Given the description of an element on the screen output the (x, y) to click on. 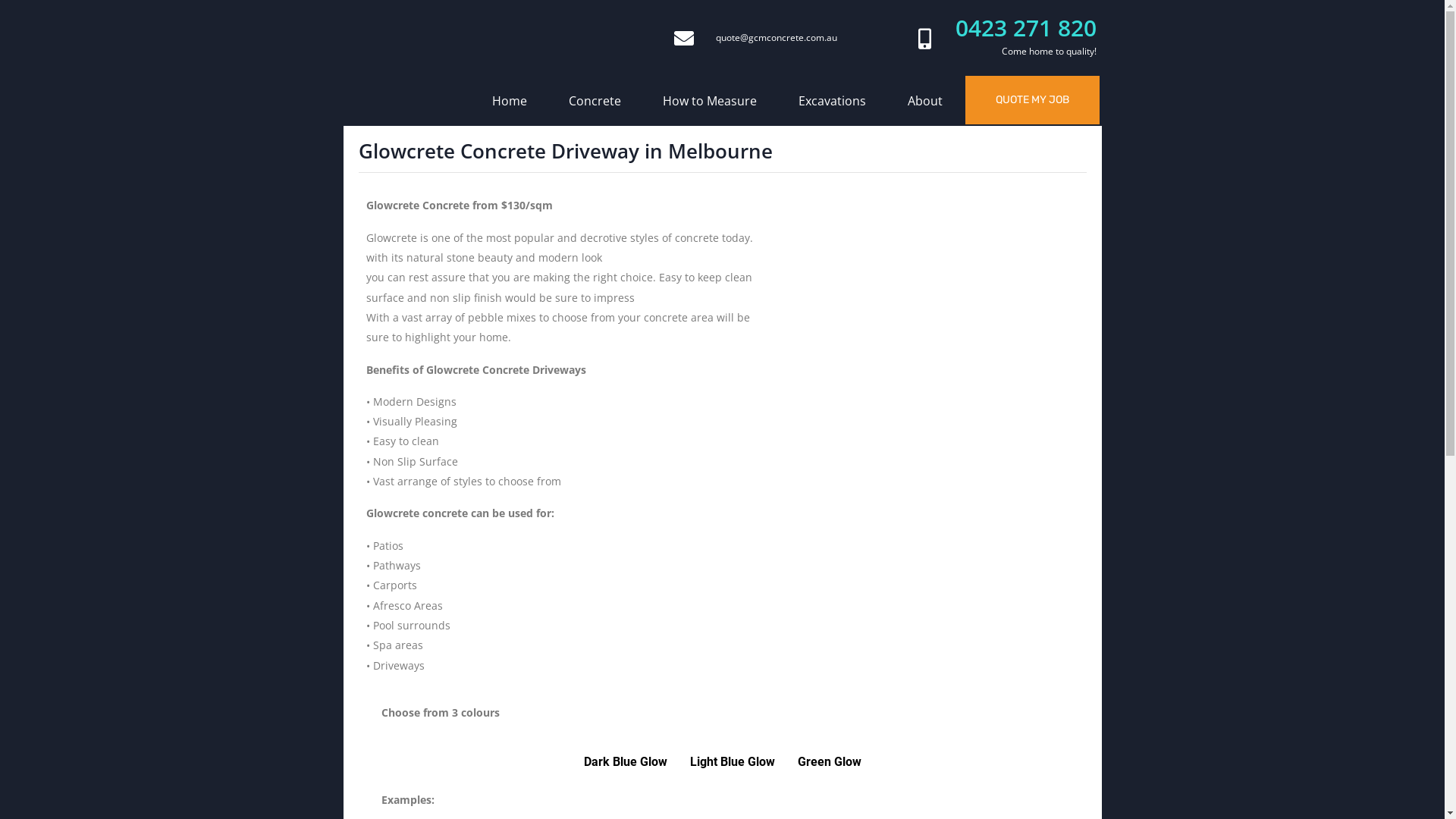
Home Element type: text (509, 100)
How to Measure Element type: text (709, 100)
QUOTE MY JOB Element type: text (1032, 99)
Concrete Element type: text (594, 100)
About Element type: text (924, 100)
Excavations Element type: text (832, 100)
